Given the description of an element on the screen output the (x, y) to click on. 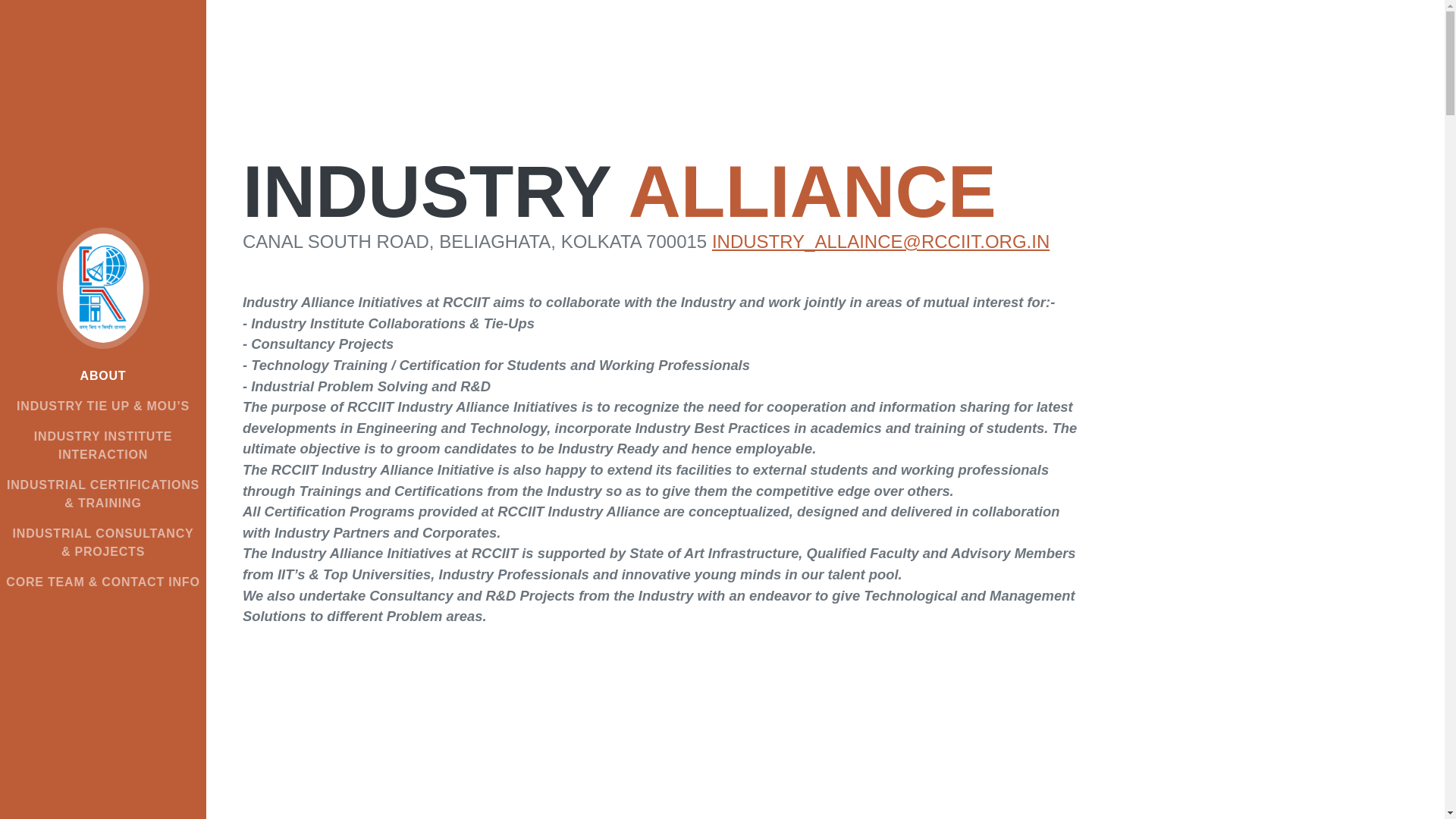
INDUSTRY INSTITUTE INTERACTION (103, 445)
ABOUT (103, 376)
ABOUT (103, 376)
INDUSTRY INSTITUTE INTERACTION (103, 445)
